Given the description of an element on the screen output the (x, y) to click on. 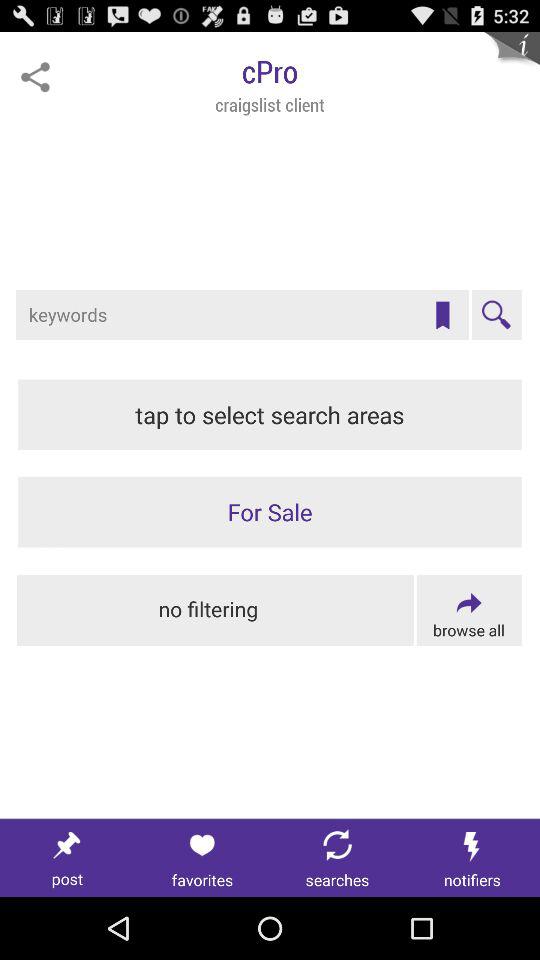
go to favorites (202, 858)
